Given the description of an element on the screen output the (x, y) to click on. 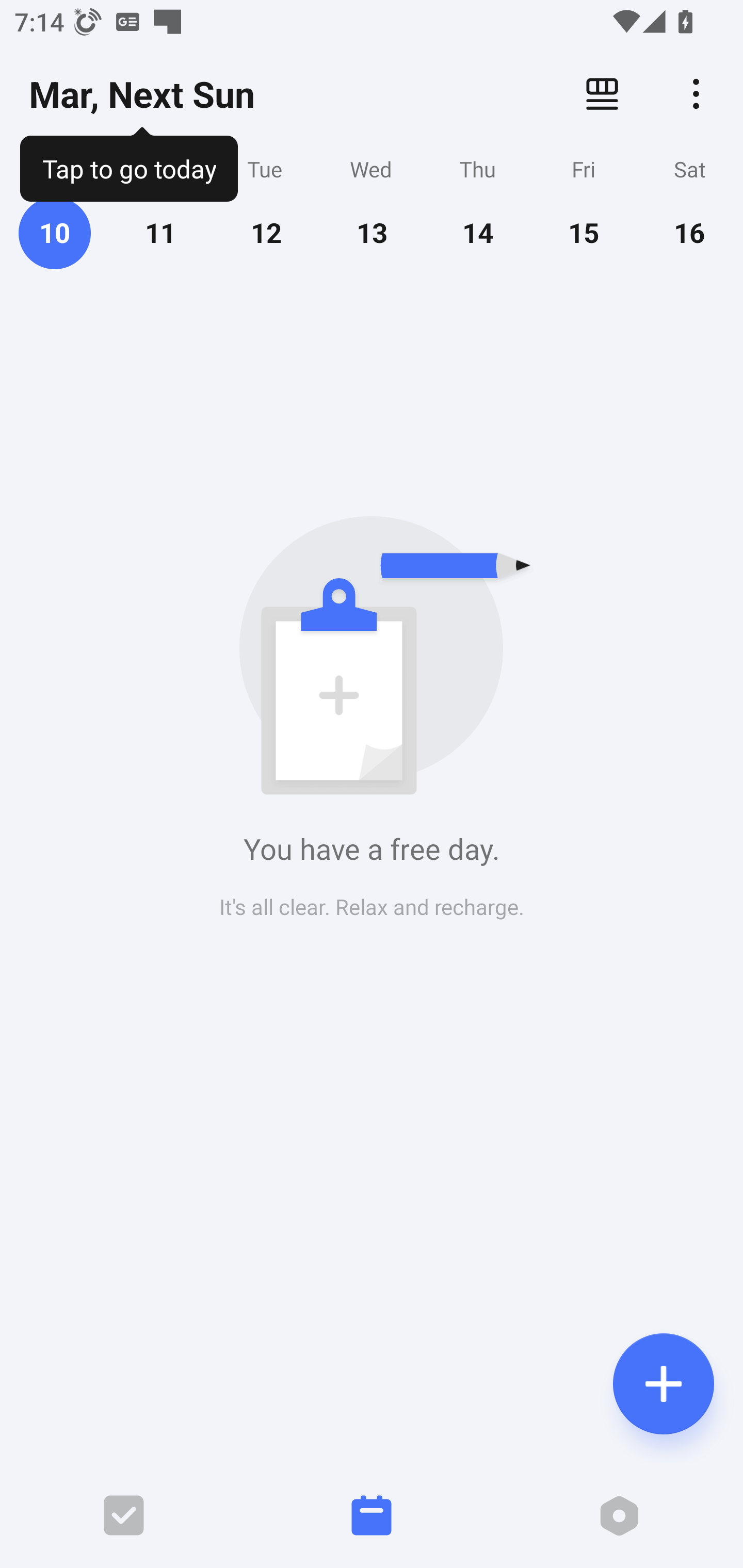
Mar, Next Sun (141, 93)
Tap to go today (128, 164)
